Given the description of an element on the screen output the (x, y) to click on. 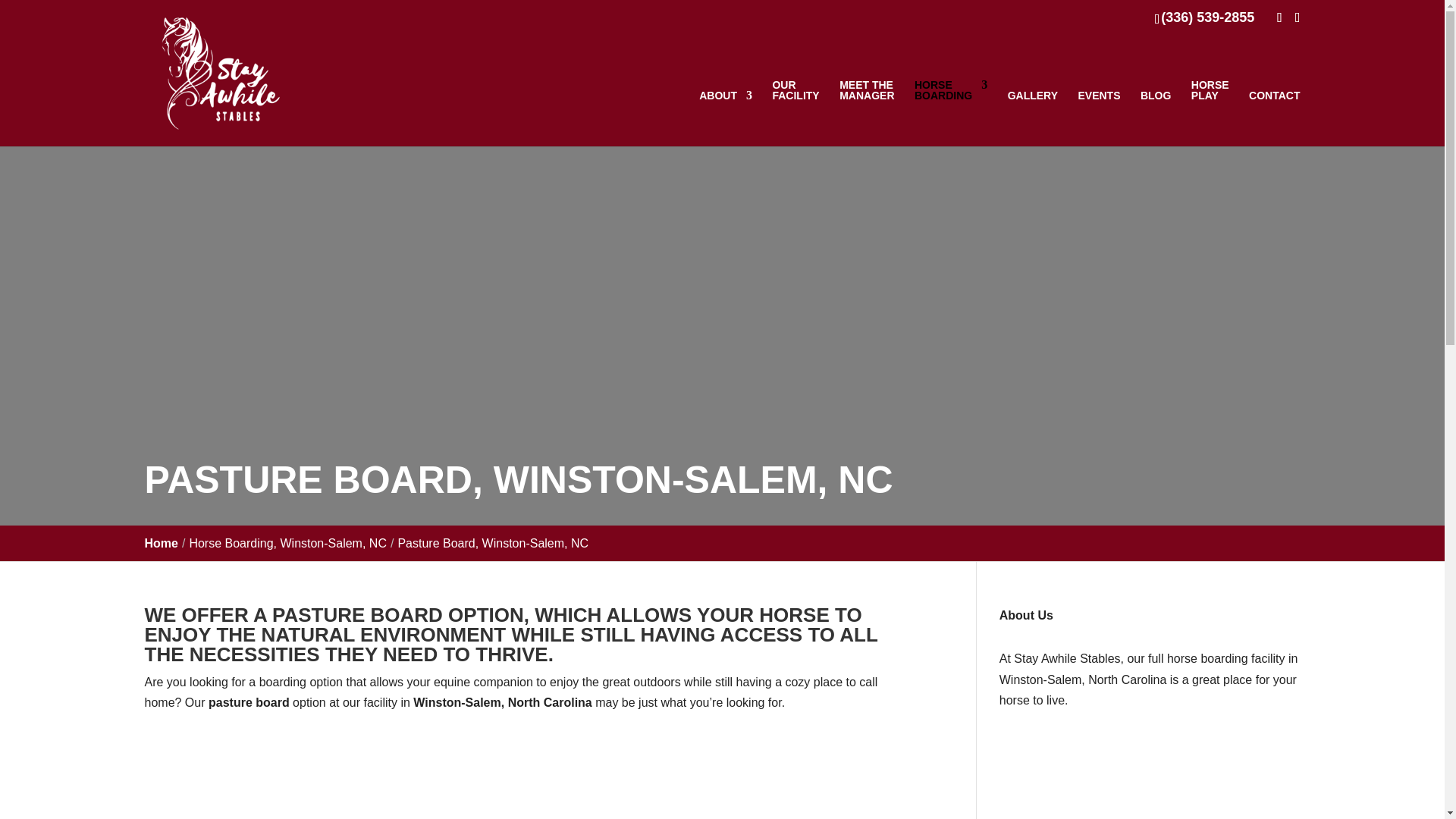
Horse Boarding, Winston-Salem, NC (288, 543)
Home (160, 543)
Go to Stay Awhile Stables. (950, 112)
Go to Horse Boarding, Winston-Salem, NC. (160, 543)
GALLERY (288, 543)
CONTACT (1032, 118)
ABOUT (1274, 118)
